Given the description of an element on the screen output the (x, y) to click on. 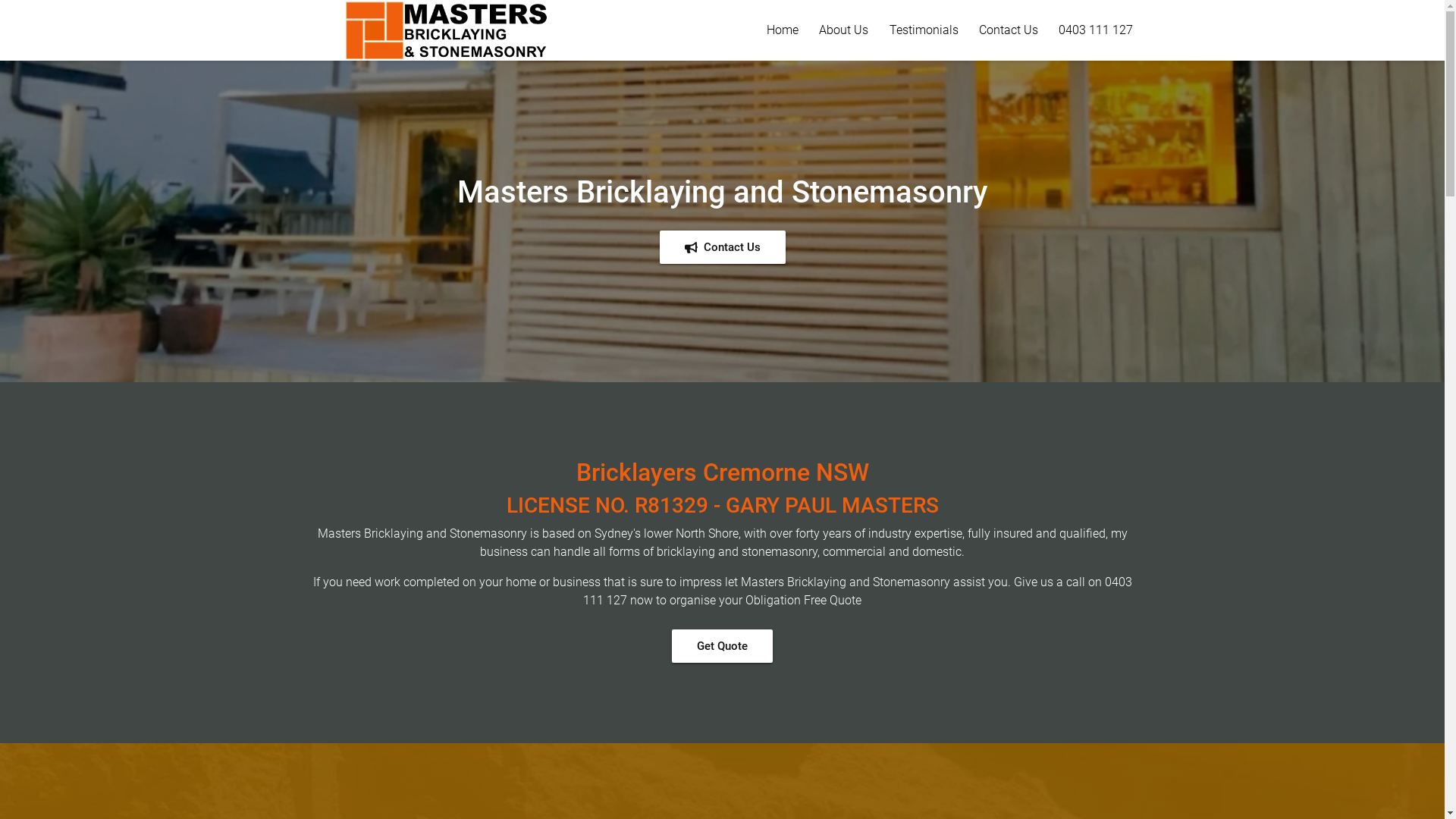
Contact Us Element type: text (722, 246)
0403 111 127 Element type: text (1095, 30)
About Us Element type: text (843, 30)
Home Element type: text (782, 30)
Contact Us Element type: text (1008, 30)
Get Quote Element type: text (721, 645)
Testimonials Element type: text (923, 30)
